Given the description of an element on the screen output the (x, y) to click on. 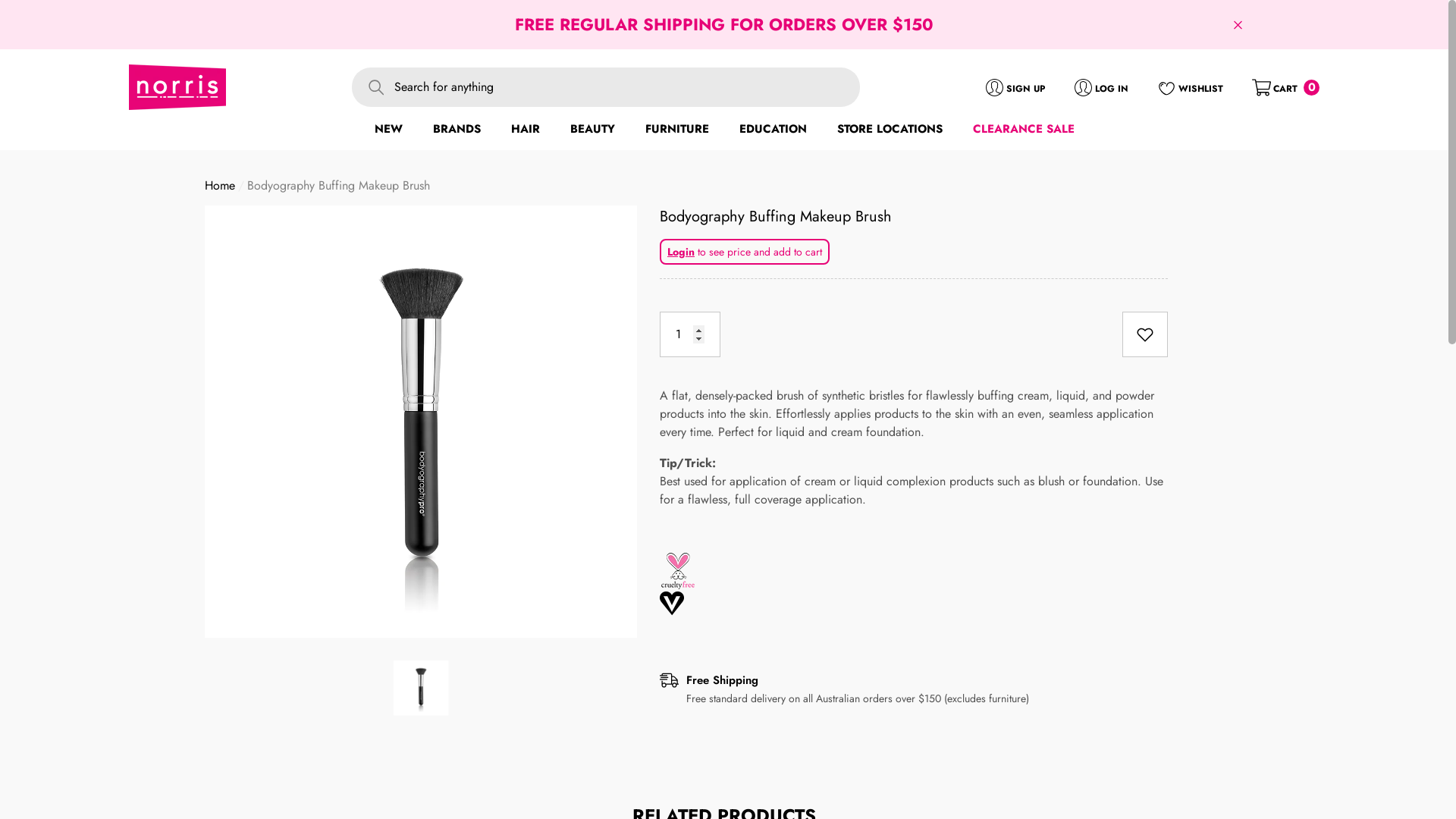
Bodyography Buffing Makeup Brush Element type: text (913, 215)
SIGN UP
Sign Up Element type: text (1014, 86)
Login Element type: text (680, 251)
BEAUTY Element type: text (592, 128)
Bodyography Buffing Makeup Brush - Norris Hair & Beauty Element type: hover (420, 687)
WISHLIST Element type: text (1190, 86)
Bodyography Buffing Makeup Brush - Norris Hair & Beauty Element type: hover (420, 420)
HAIR Element type: text (525, 128)
NEW Element type: text (388, 128)
BRANDS Element type: text (456, 128)
FURNITURE Element type: text (676, 128)
Add To Wishlist Element type: text (1144, 333)
EDUCATION Element type: text (772, 129)
Home Element type: text (219, 184)
STORE LOCATIONS Element type: text (889, 129)
CLEARANCE SALE Element type: text (1022, 129)
LOG IN
Log in Element type: text (1100, 86)
Close Element type: text (1237, 24)
CART 0
0 items Element type: text (1285, 86)
